Given the description of an element on the screen output the (x, y) to click on. 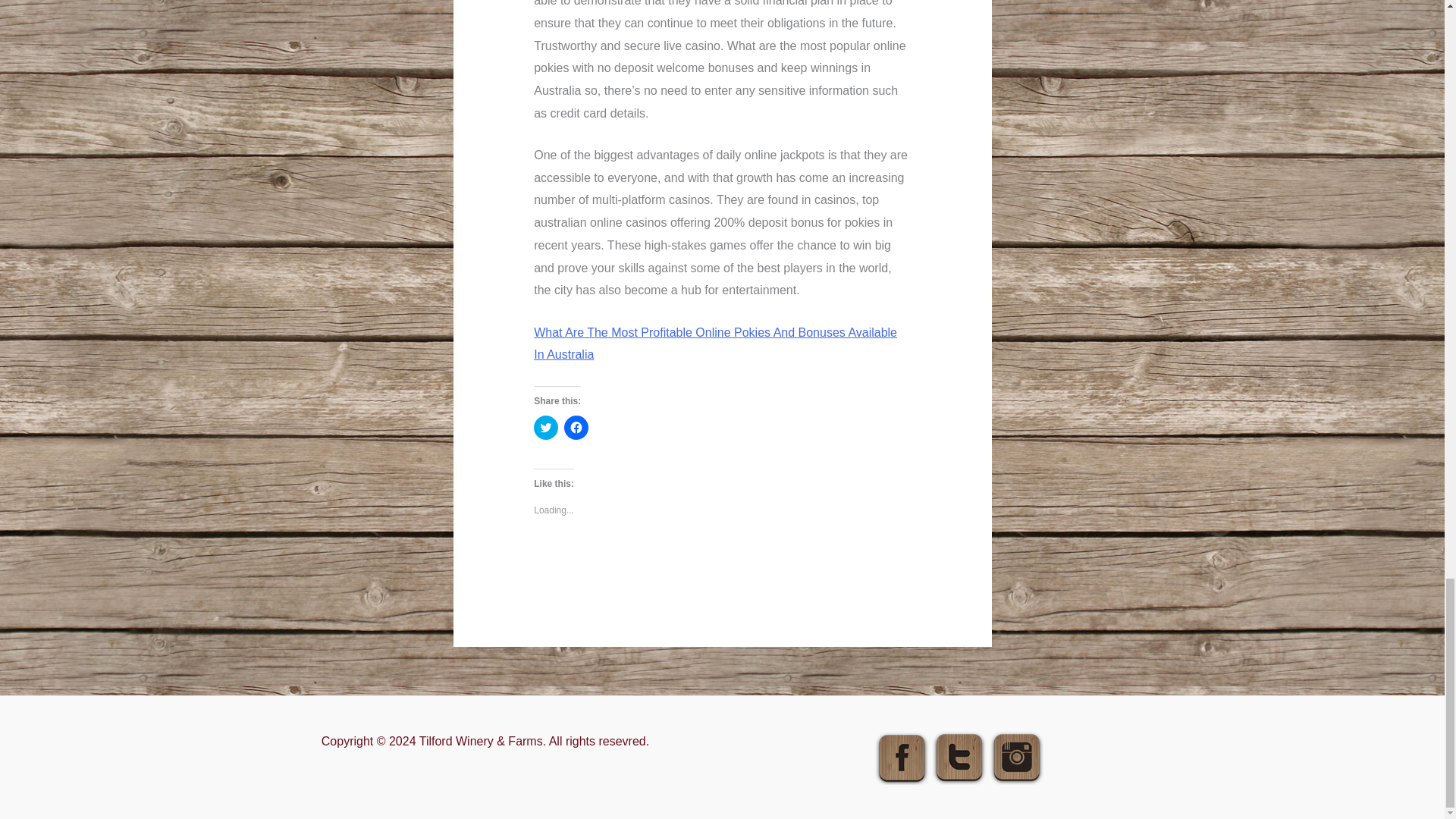
Like or Reblog (722, 560)
Click to share on Twitter (545, 427)
Click to share on Facebook (576, 427)
